Given the description of an element on the screen output the (x, y) to click on. 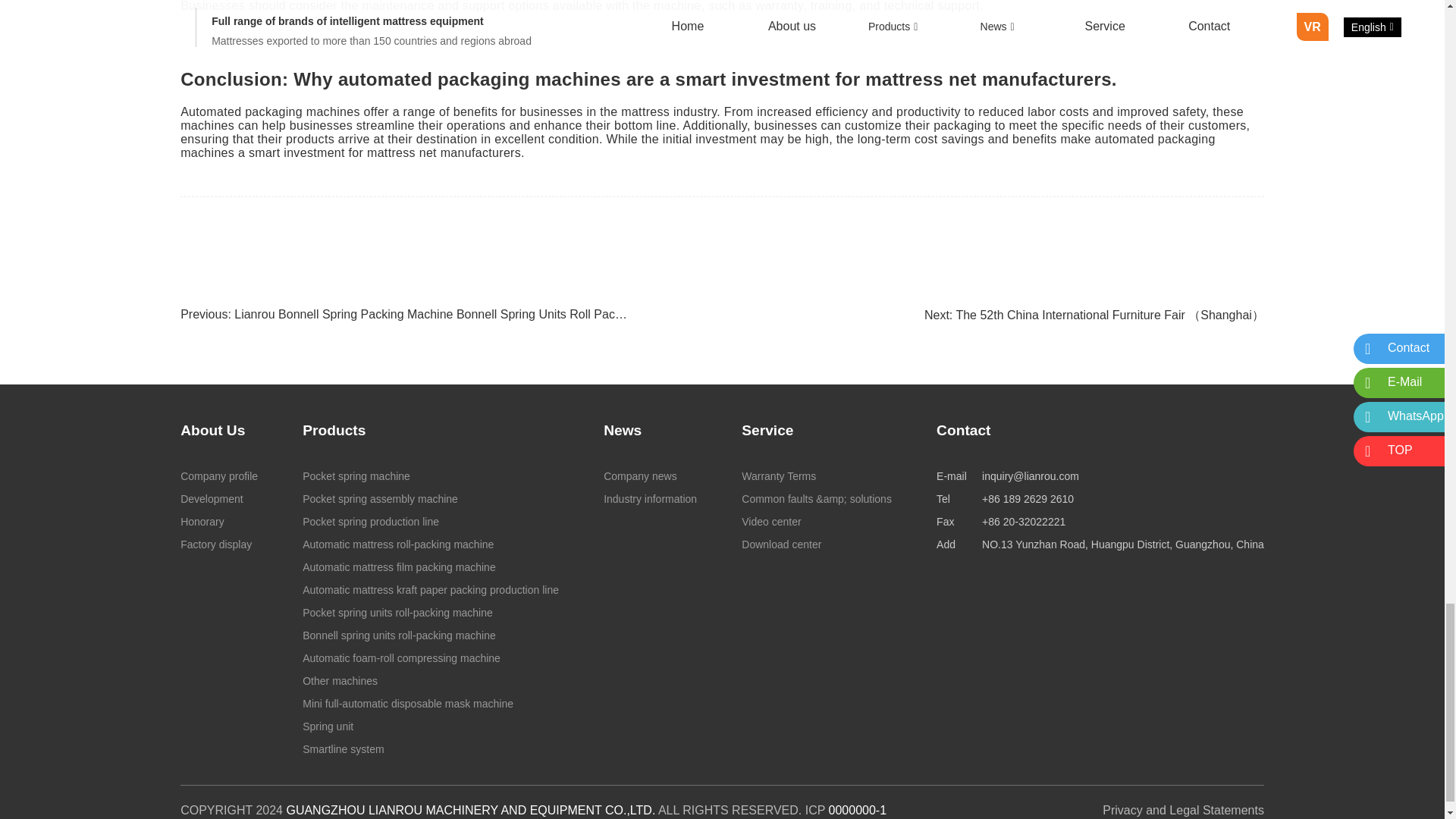
Pocket spring machine (430, 476)
Development (218, 498)
Automatic mattress film packing machine (430, 567)
Automatic mattress roll-packing machine (430, 544)
News (623, 430)
Bonnell spring units roll-packing machine (430, 635)
Automatic foam-roll compressing machine (430, 658)
Pocket spring units roll-packing machine (430, 612)
Pocket spring assembly machine (430, 498)
Smartline system (430, 748)
Industry information (650, 498)
Honorary (218, 521)
Company news (650, 476)
Pocket spring production line (430, 521)
Automatic mattress kraft paper packing production line (430, 589)
